Given the description of an element on the screen output the (x, y) to click on. 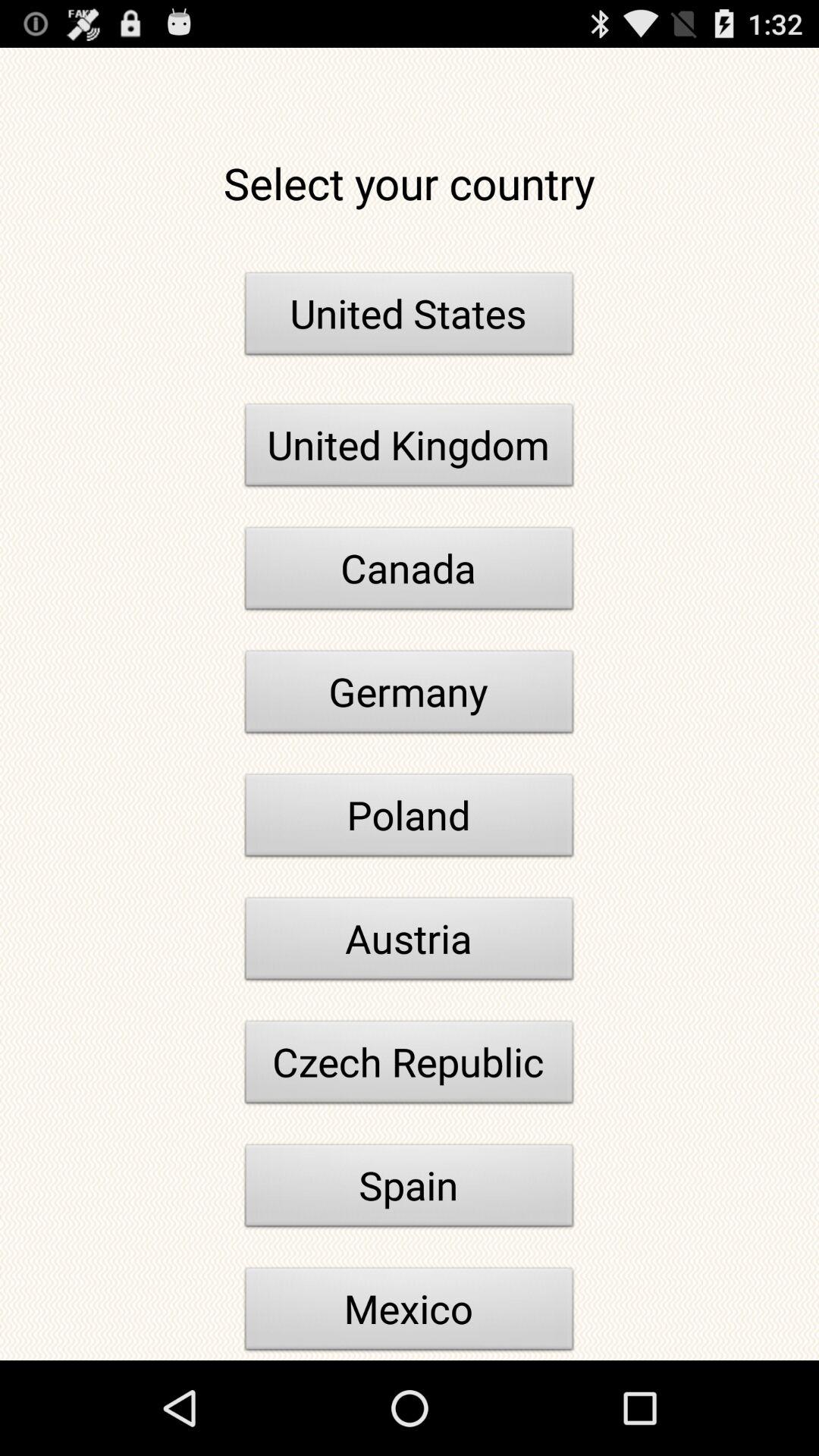
select canada item (409, 572)
